Given the description of an element on the screen output the (x, y) to click on. 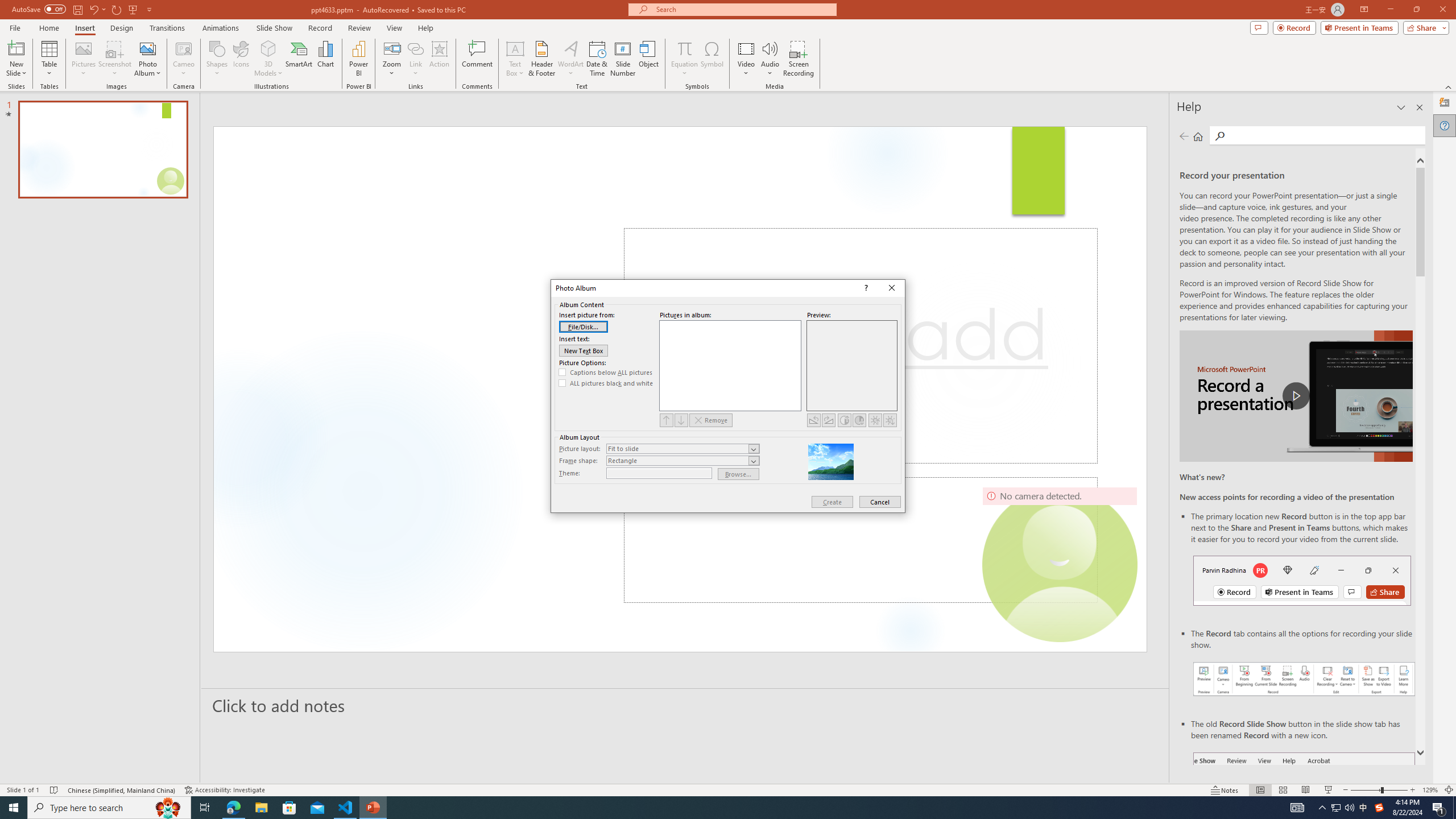
Action (439, 58)
play Record a Presentation (1296, 395)
More Brightness (874, 419)
